Given the description of an element on the screen output the (x, y) to click on. 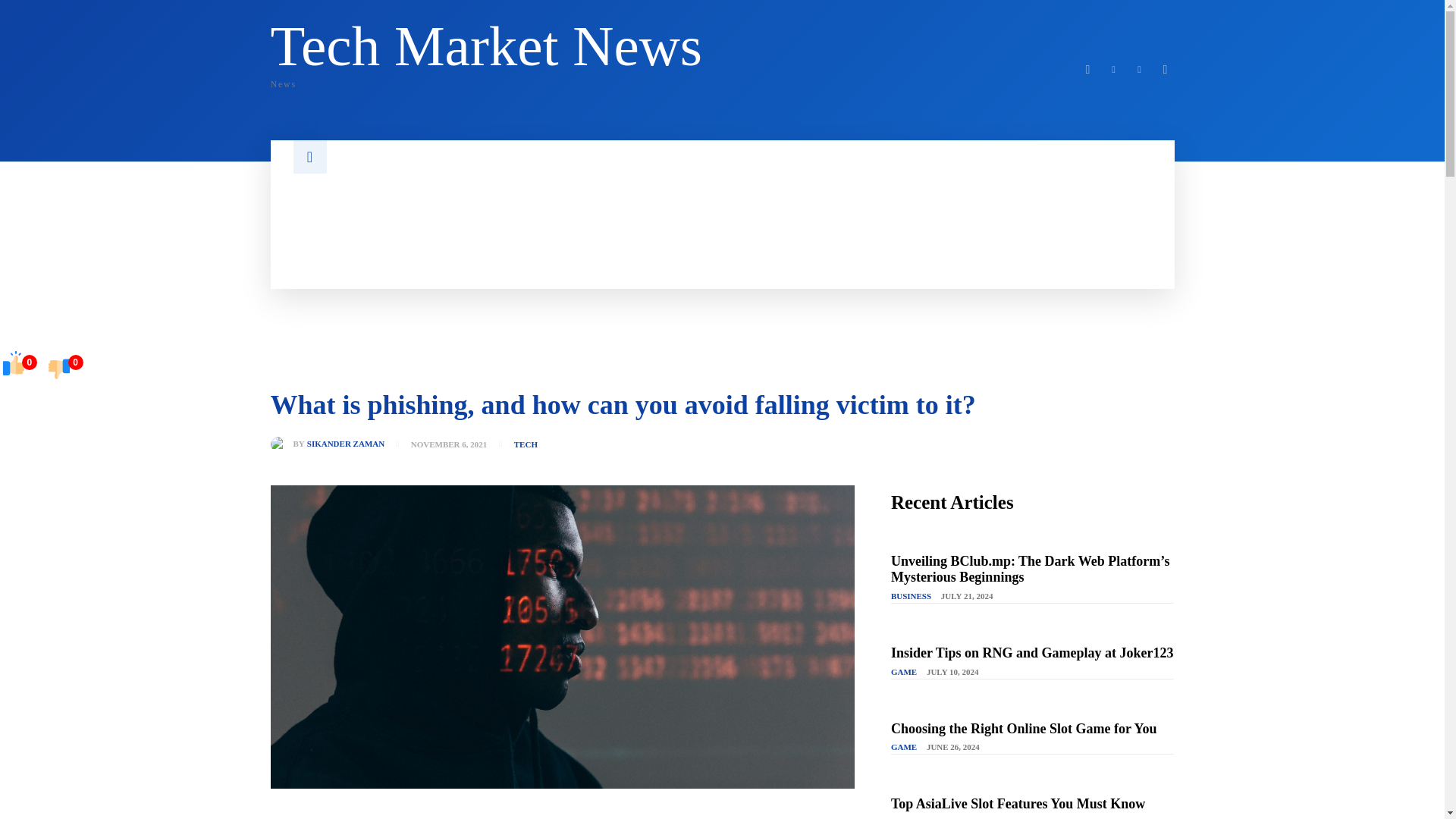
Twitter (1138, 69)
Sikander Zaman (280, 444)
Insider Tips on RNG and Gameplay at Joker123 (1032, 652)
Facebook (1087, 69)
Youtube (1164, 69)
Choosing the Right Online Slot Game for You (1024, 728)
Top AsiaLive Slot Features You Must Know (1017, 803)
Linkedin (1112, 69)
